Given the description of an element on the screen output the (x, y) to click on. 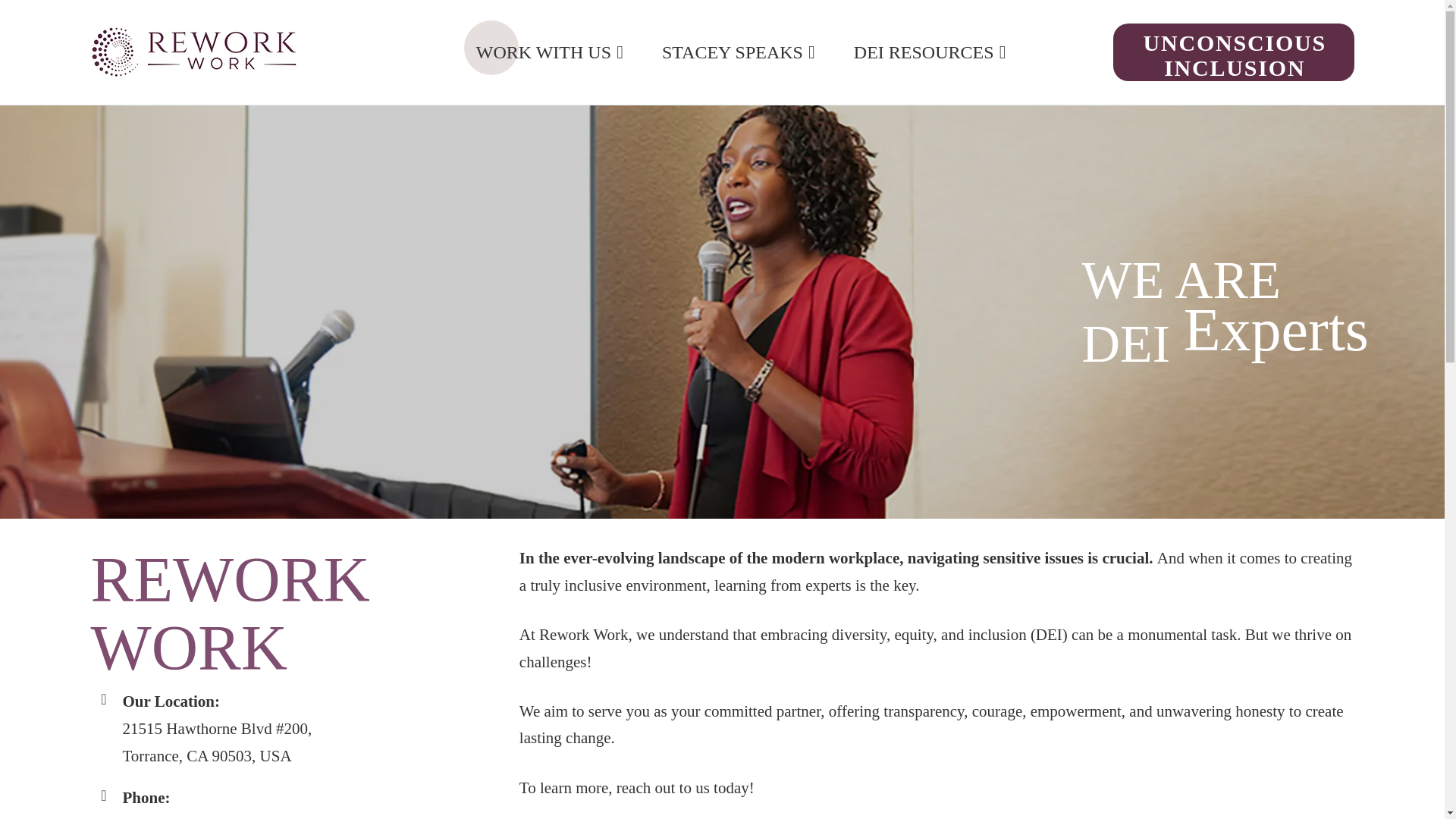
Rework Work (351, 62)
DEI RESOURCES (929, 51)
UNCONSCIOUS INCLUSION (1233, 52)
310 626 0196 (166, 817)
WORK WITH US (549, 51)
STACEY SPEAKS (738, 51)
